Given the description of an element on the screen output the (x, y) to click on. 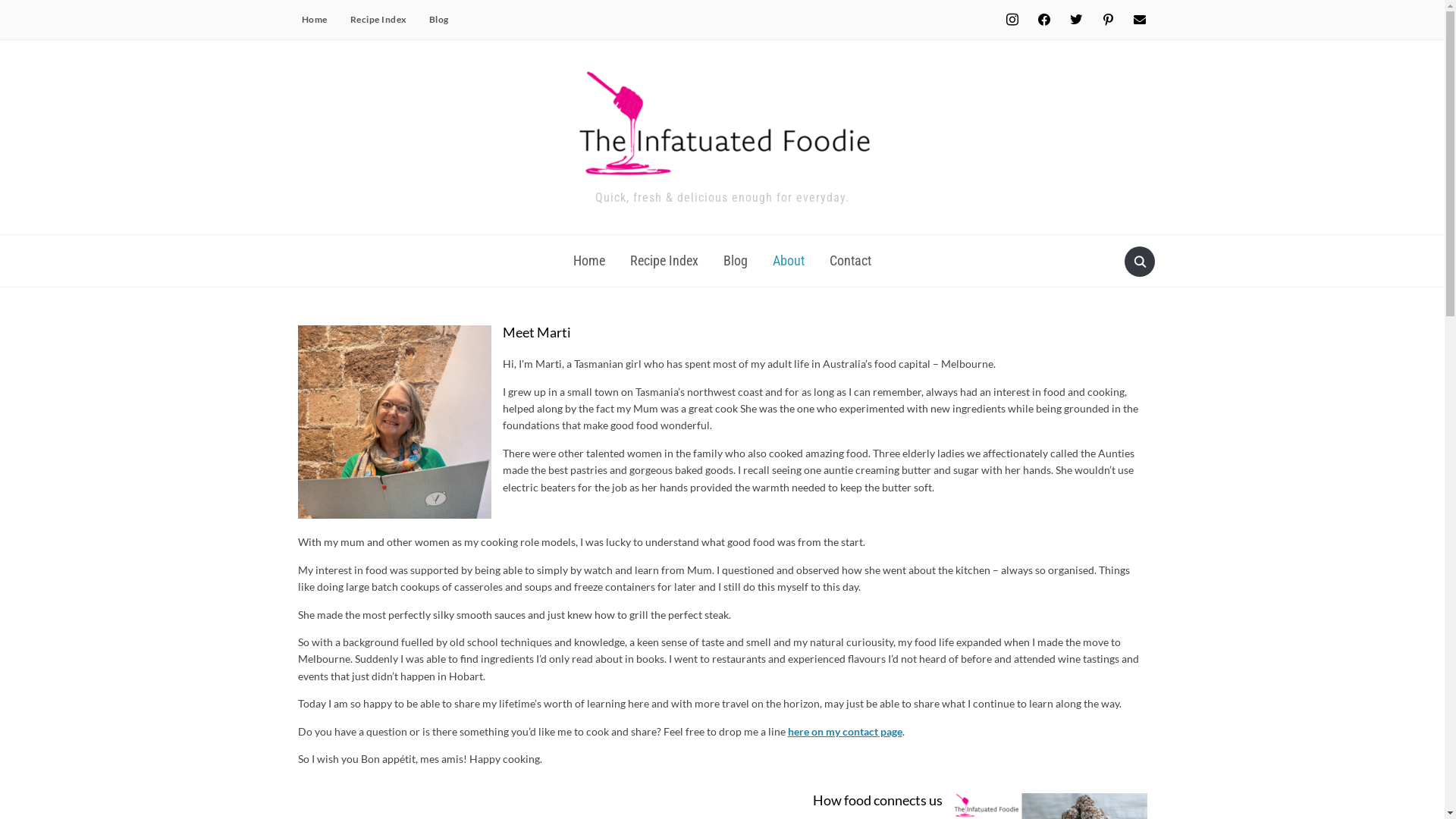
Follow Me Element type: hover (1075, 18)
Friend me on Facebook Element type: hover (1043, 18)
Recipe Index Element type: text (663, 260)
Home Element type: text (313, 19)
About Element type: text (788, 260)
Home Element type: text (588, 260)
here on my contact page Element type: text (844, 730)
Recipe Index Element type: text (377, 19)
Blog Element type: text (438, 19)
Search Element type: text (1138, 261)
Blog Element type: text (735, 260)
Contact Element type: text (850, 260)
